Given the description of an element on the screen output the (x, y) to click on. 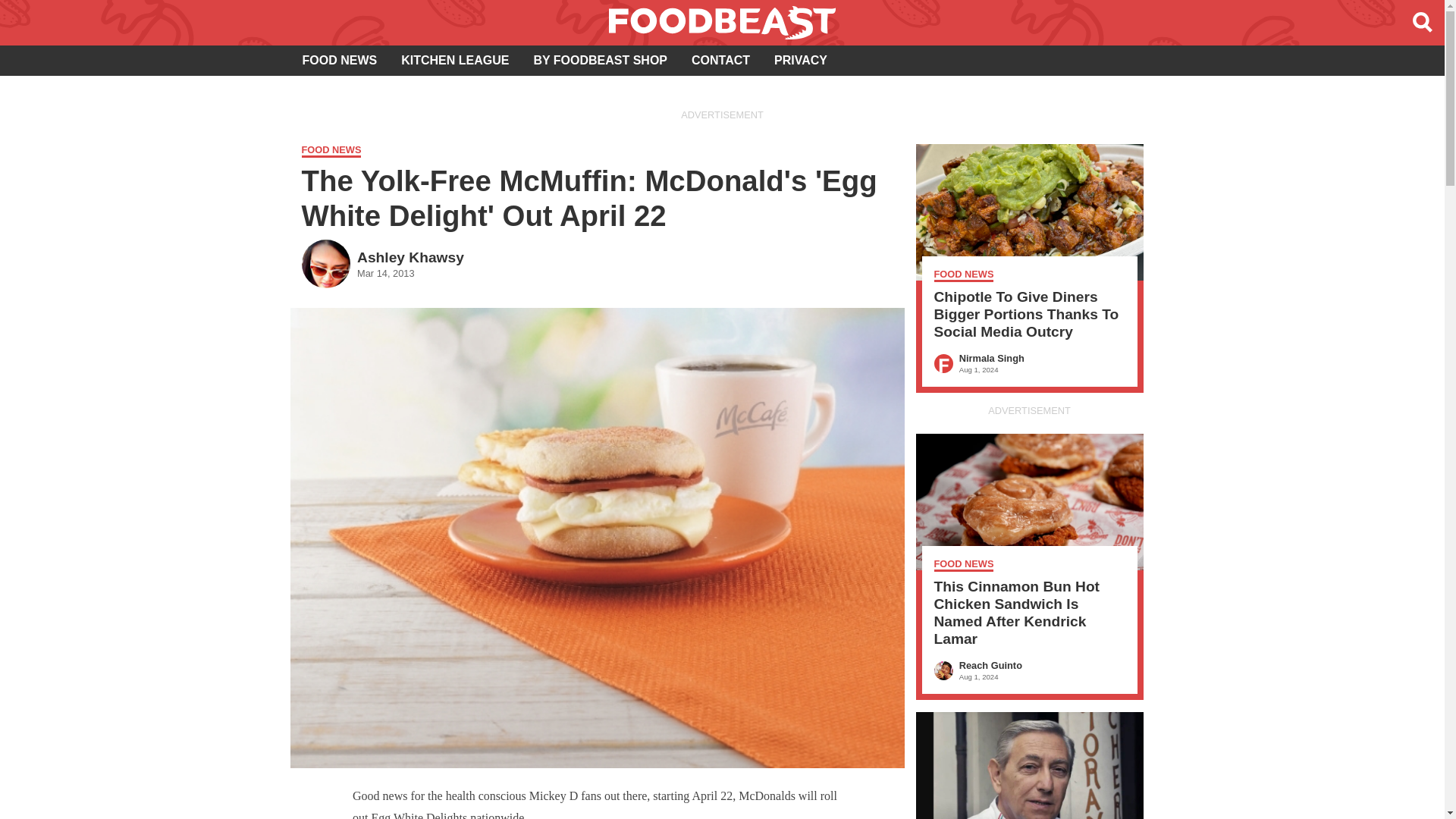
BY FOODBEAST SHOP (600, 60)
FOOD NEWS (338, 60)
CONTACT (382, 262)
PRIVACY (720, 60)
KITCHEN LEAGUE (800, 60)
GET FOOD NEWS (454, 60)
